Given the description of an element on the screen output the (x, y) to click on. 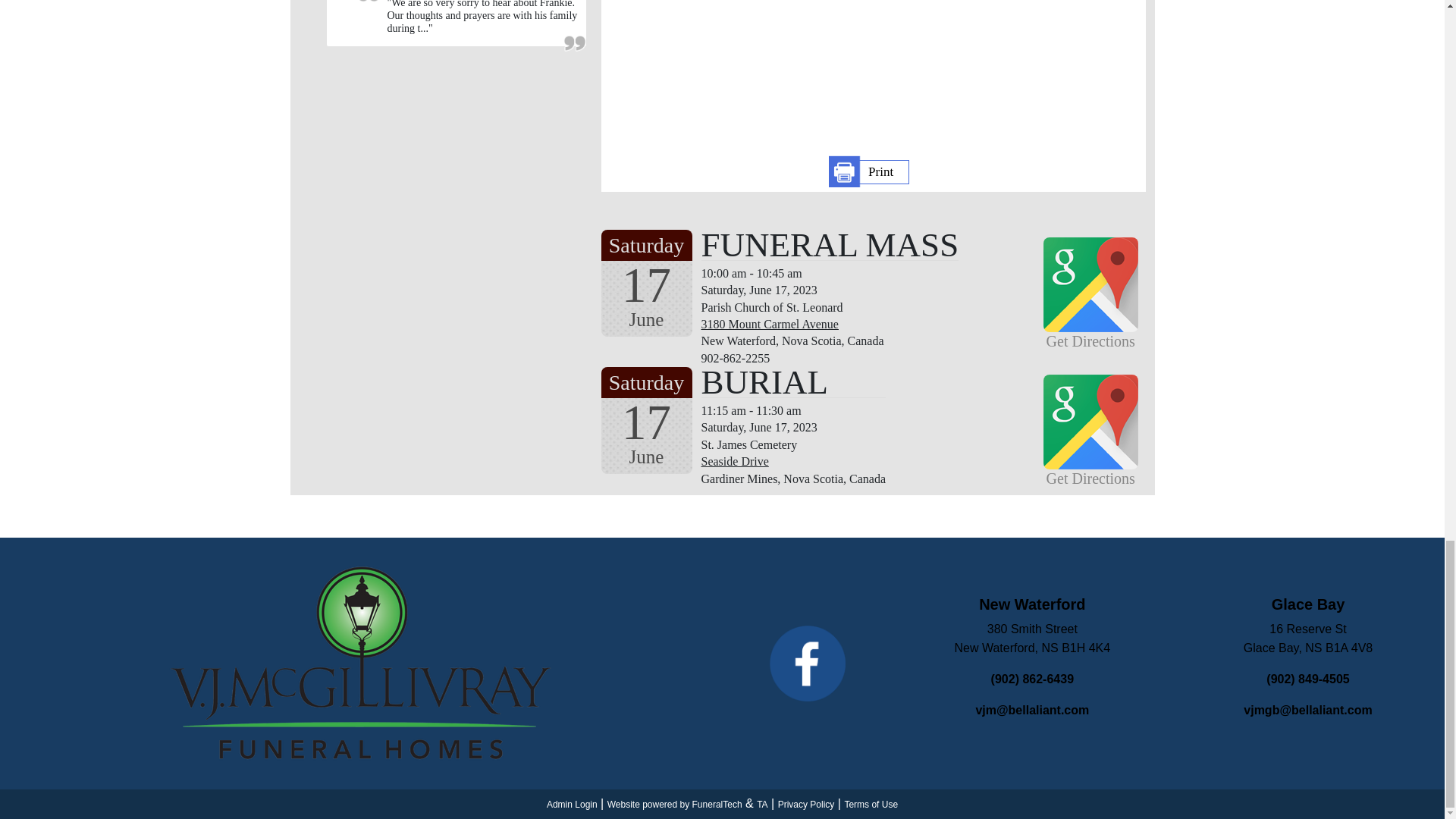
Print (868, 171)
